Given the description of an element on the screen output the (x, y) to click on. 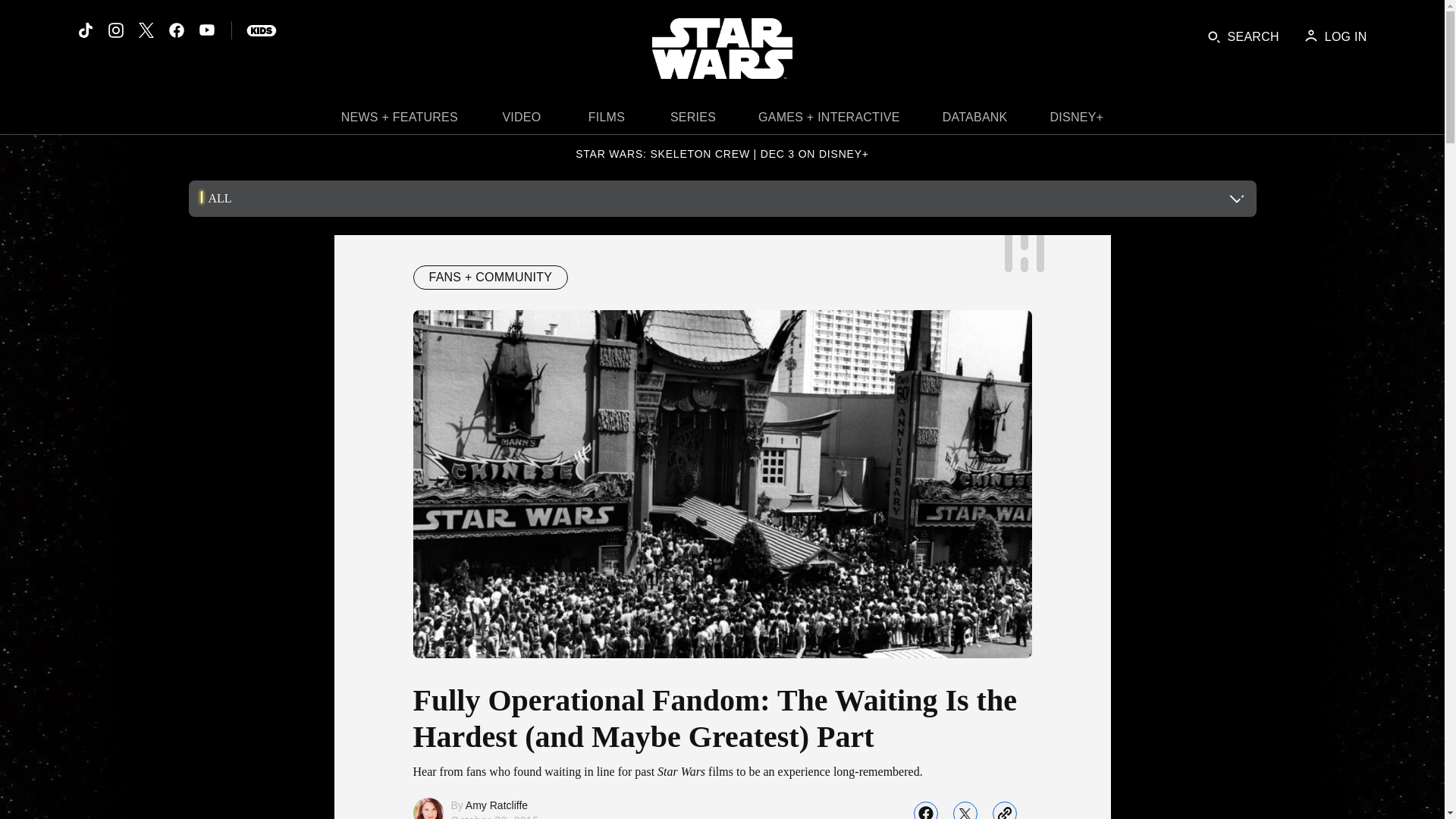
SERIES (692, 121)
LOG IN (1334, 36)
FILMS (606, 121)
DATABANK (975, 121)
VIDEO (521, 121)
YouTube (206, 29)
Twitter (145, 29)
Facebook (175, 29)
Instagram (114, 29)
